Given the description of an element on the screen output the (x, y) to click on. 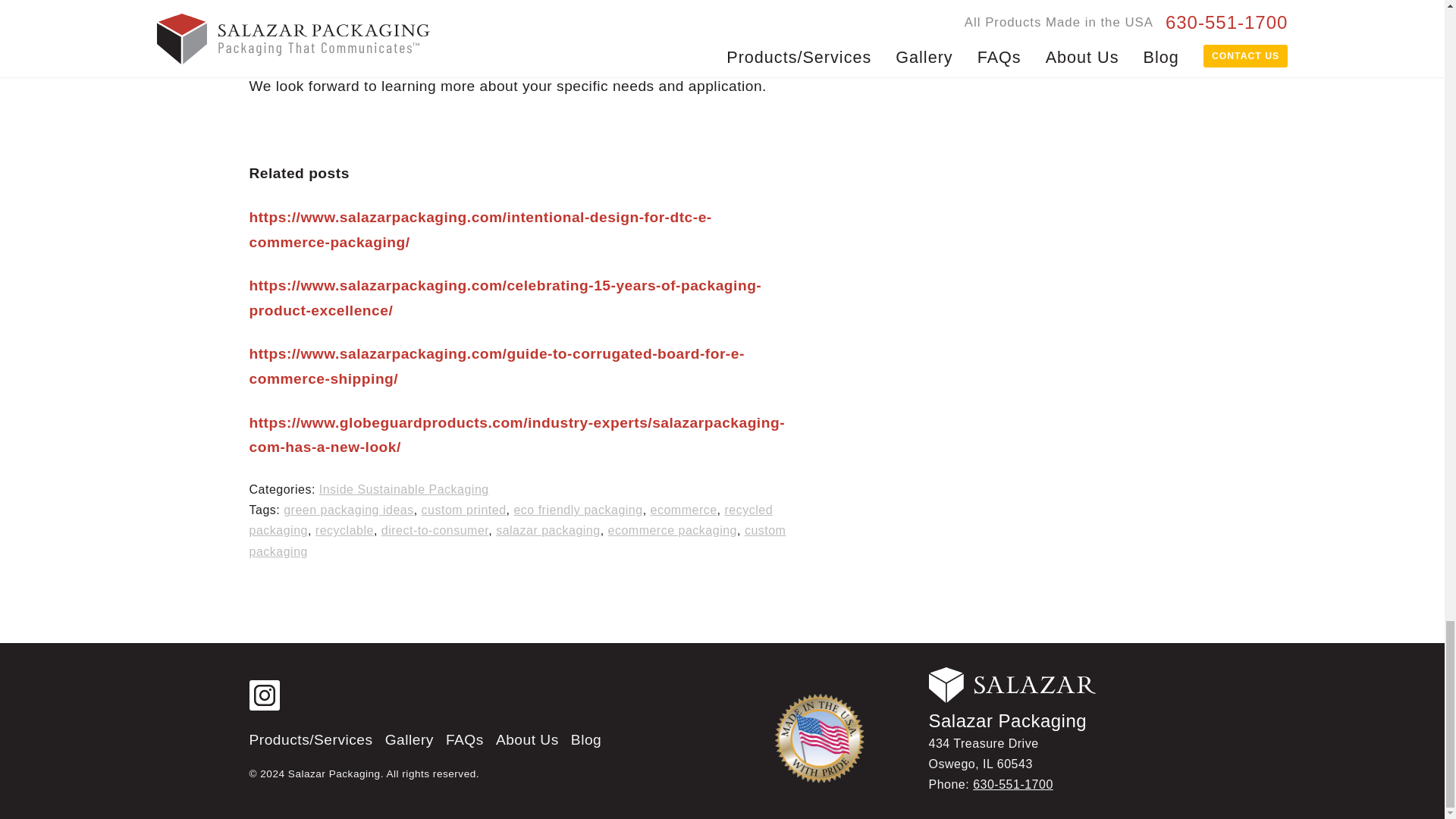
recycled packaging (510, 520)
eco friendly packaging (577, 509)
custom packaging (517, 540)
custom printed (464, 509)
salazar packaging (547, 530)
ecommerce packaging (672, 530)
direct-to-consumer (435, 530)
Inside Sustainable Packaging (403, 489)
ecommerce (683, 509)
recyclable (344, 530)
green packaging ideas (348, 509)
